Given the description of an element on the screen output the (x, y) to click on. 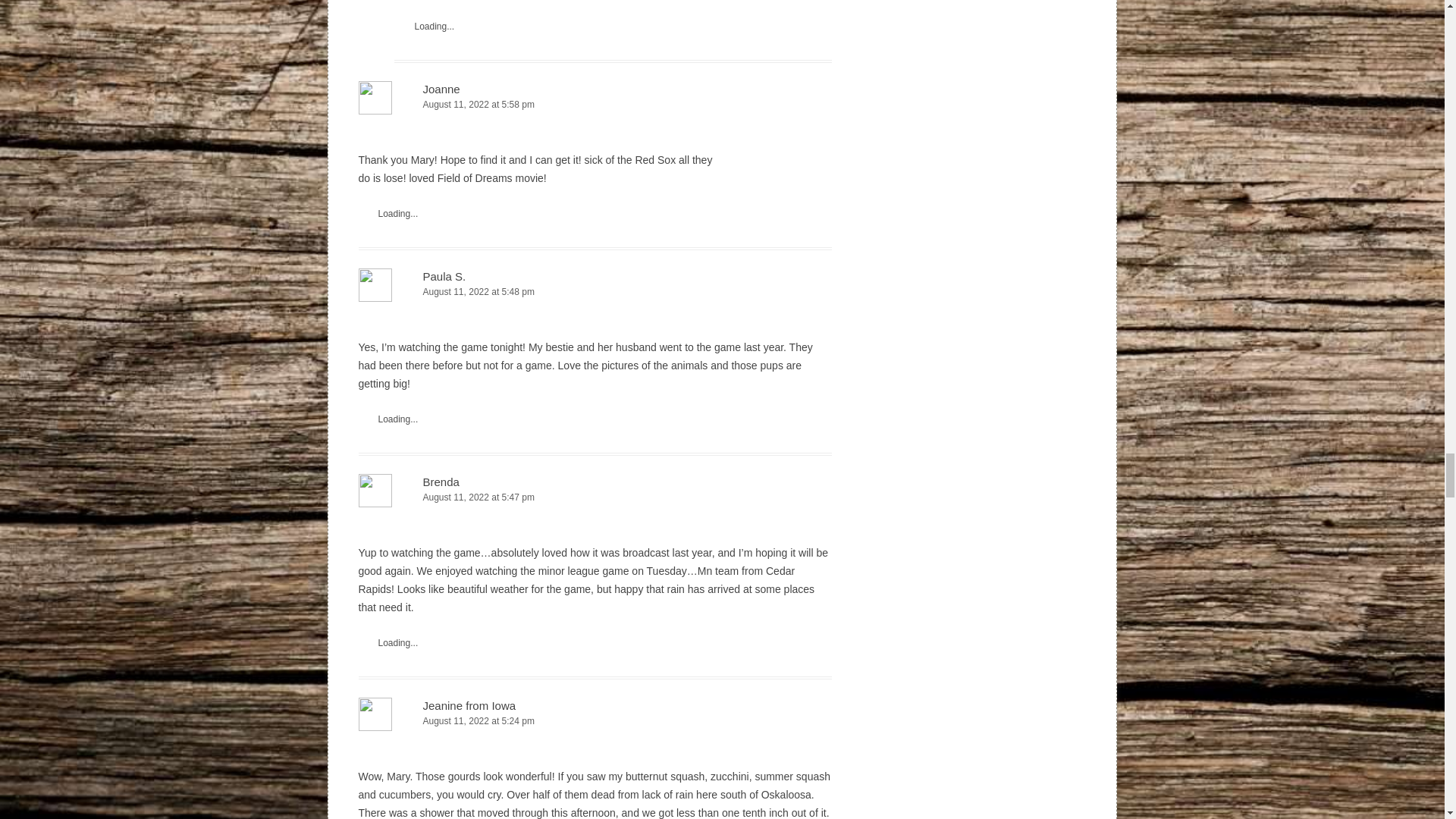
August 11, 2022 at 5:47 pm (594, 497)
August 11, 2022 at 5:48 pm (594, 292)
August 11, 2022 at 5:58 pm (594, 105)
